Given the description of an element on the screen output the (x, y) to click on. 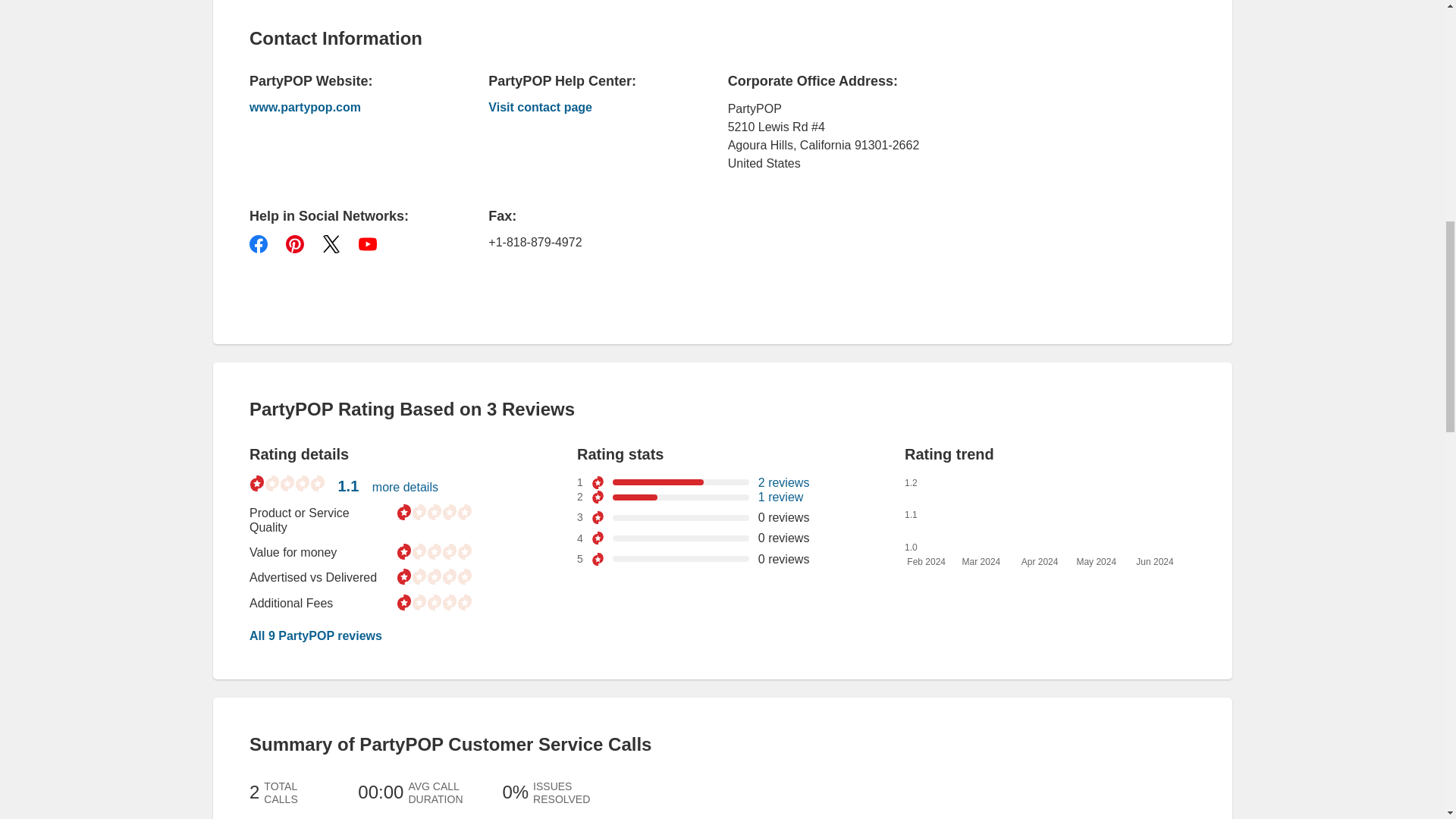
PartyPOP (584, 108)
Youtube (366, 244)
Chart Rating trend (1032, 516)
All 9 PartyPOP reviews (314, 635)
Twitter (330, 244)
www.partypop.com (345, 107)
Twitter link (330, 244)
Pinterest link (293, 244)
Pinterest (293, 244)
Facebook (257, 244)
Facebook link (257, 244)
PartyPOP (345, 107)
Visit contact page (584, 108)
